Given the description of an element on the screen output the (x, y) to click on. 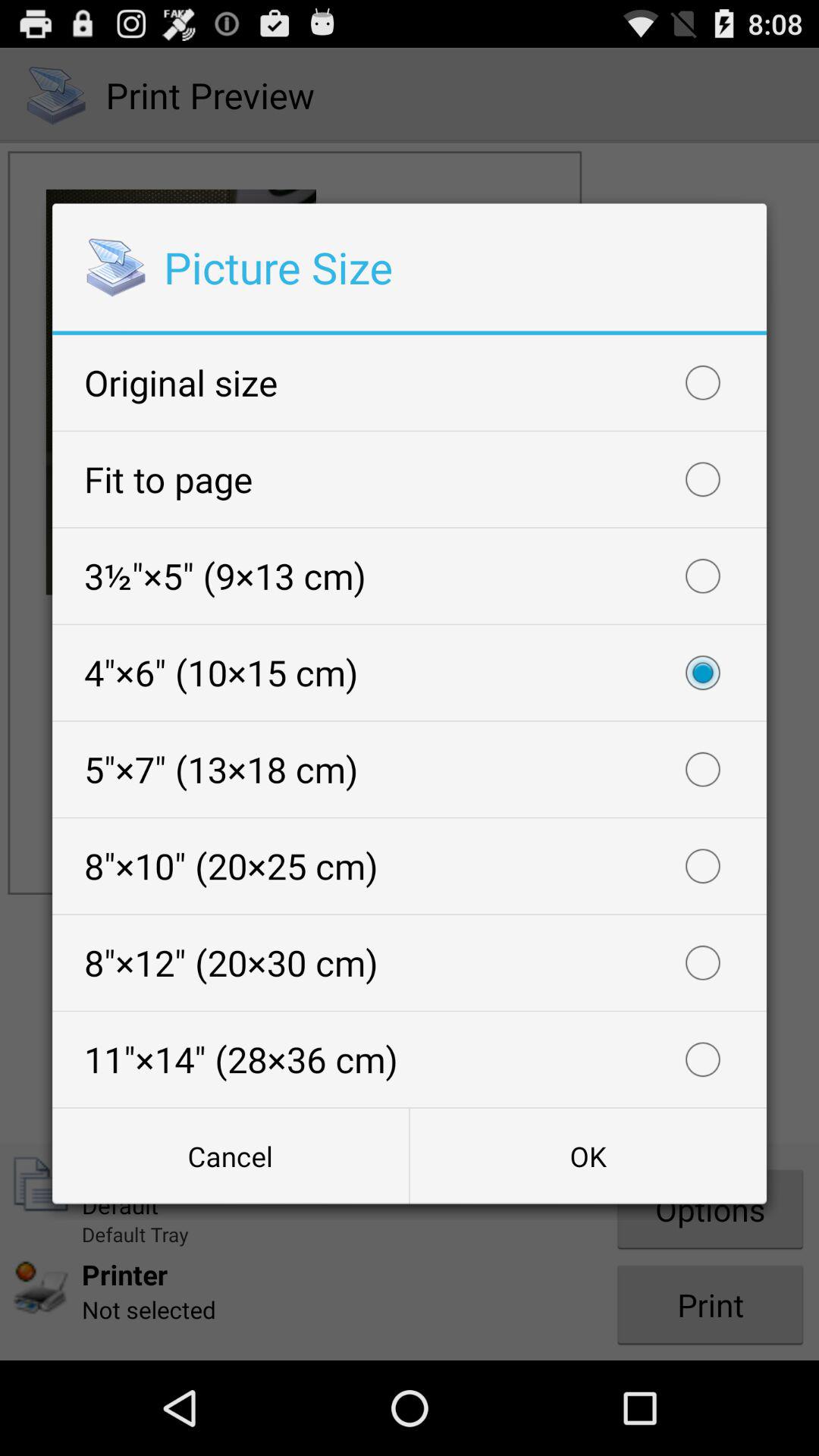
open icon to the left of the ok button (230, 1156)
